Given the description of an element on the screen output the (x, y) to click on. 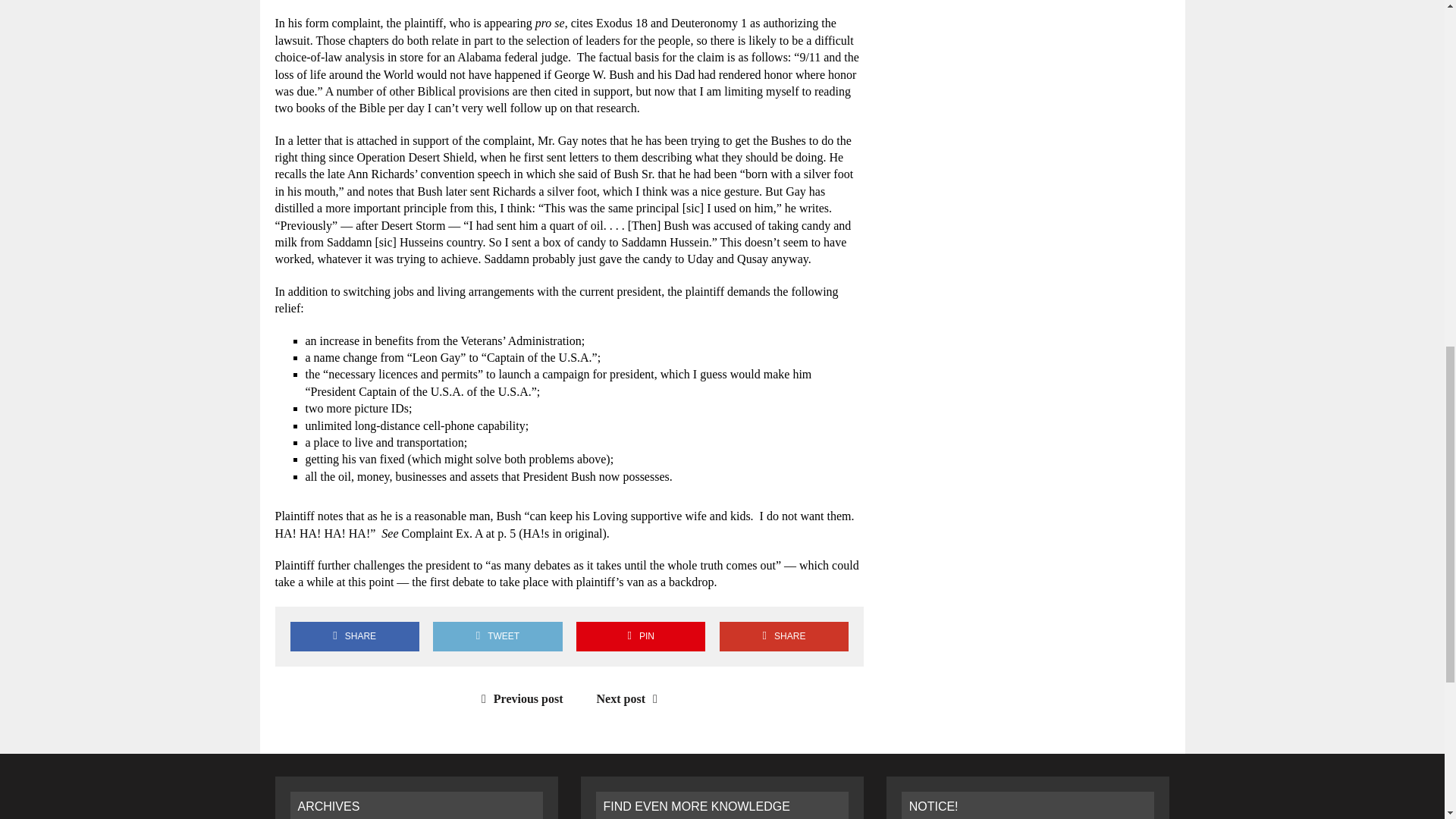
Share on Facebook (354, 636)
Pin This Post (640, 636)
Tweet This Post (497, 636)
